Given the description of an element on the screen output the (x, y) to click on. 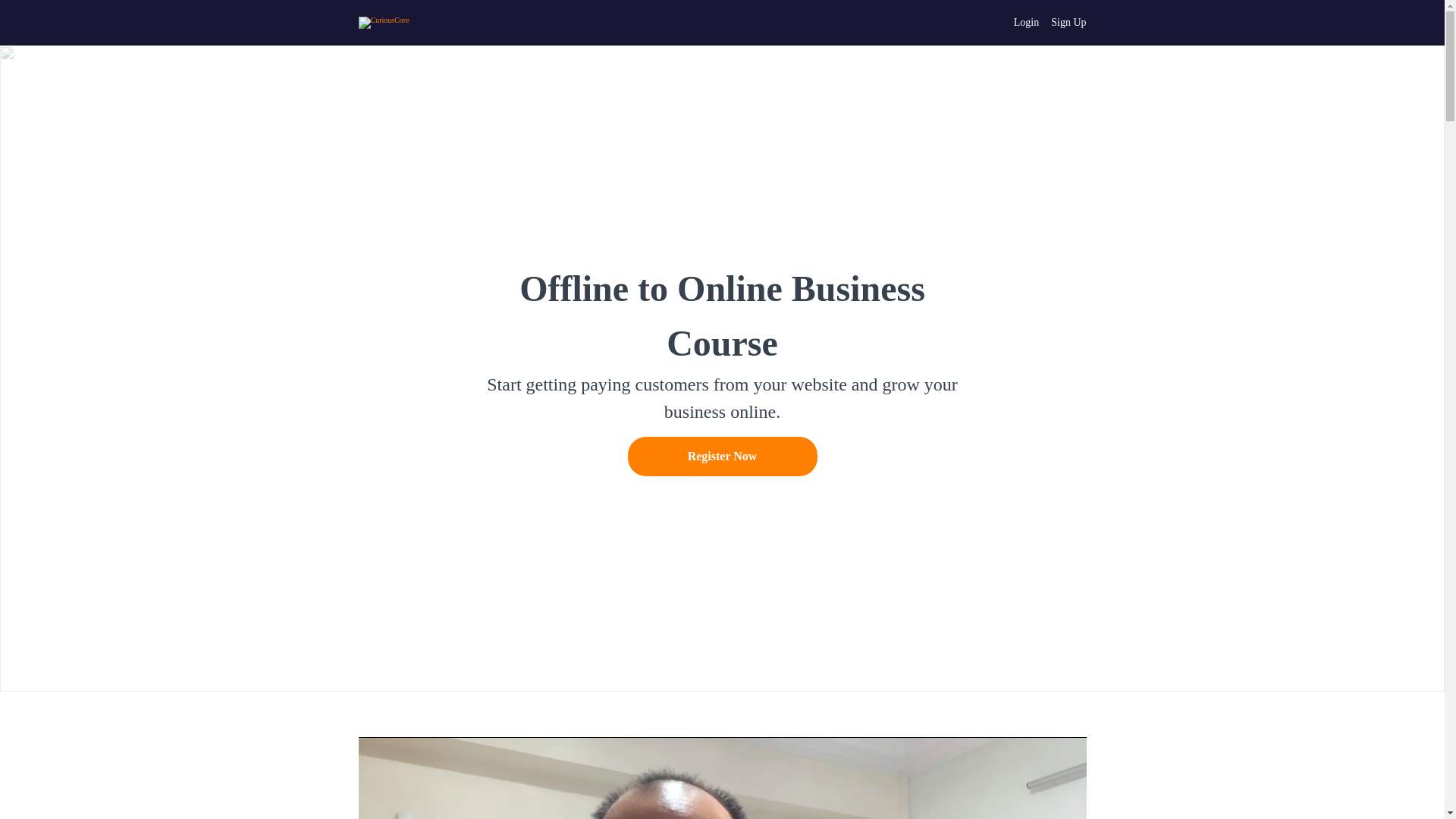
Login (1026, 22)
Register Now (721, 457)
Register Now (721, 455)
Video Player (722, 778)
Sign Up (1068, 22)
